Given the description of an element on the screen output the (x, y) to click on. 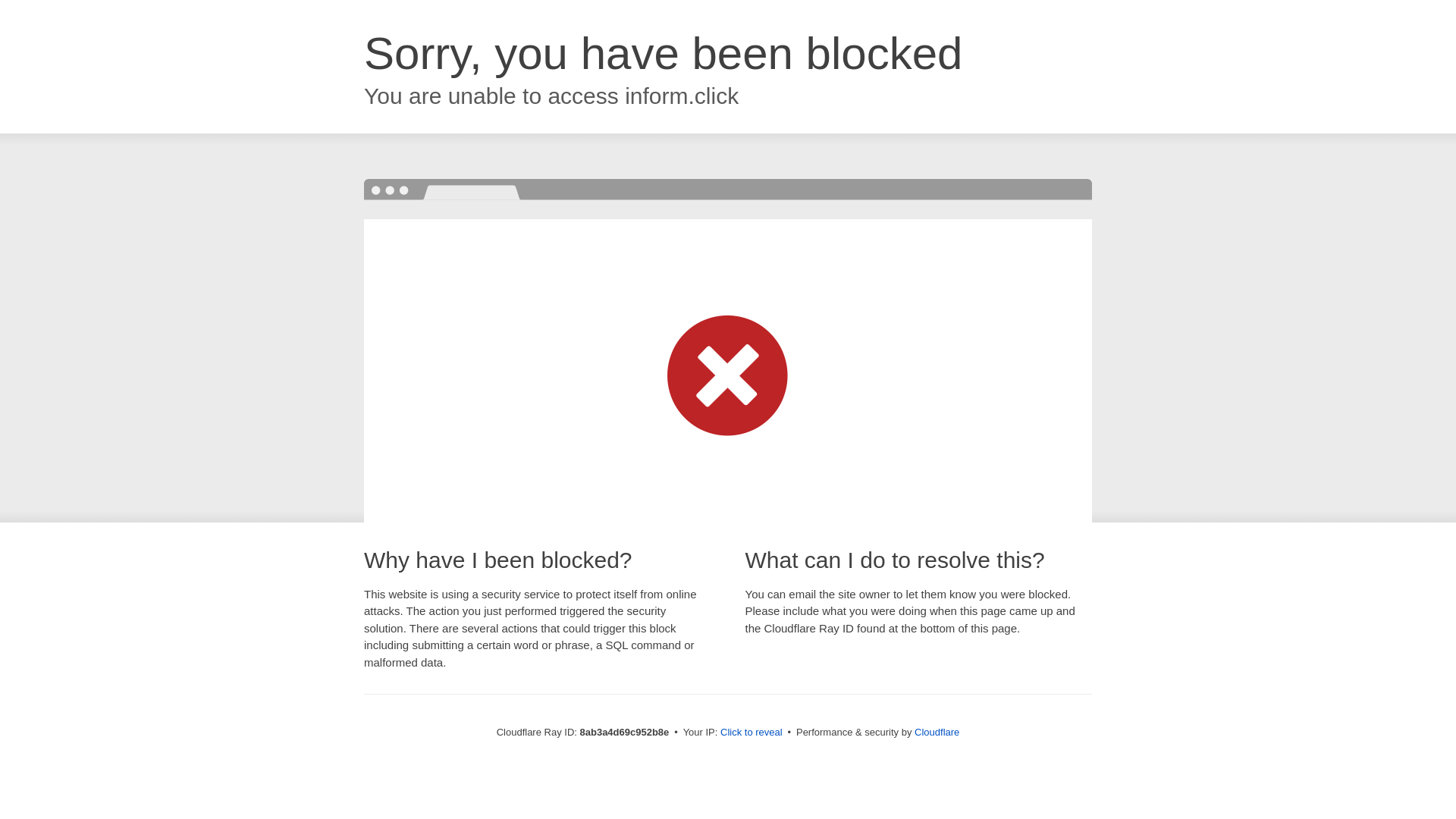
Click to reveal (751, 732)
Cloudflare (936, 731)
